Given the description of an element on the screen output the (x, y) to click on. 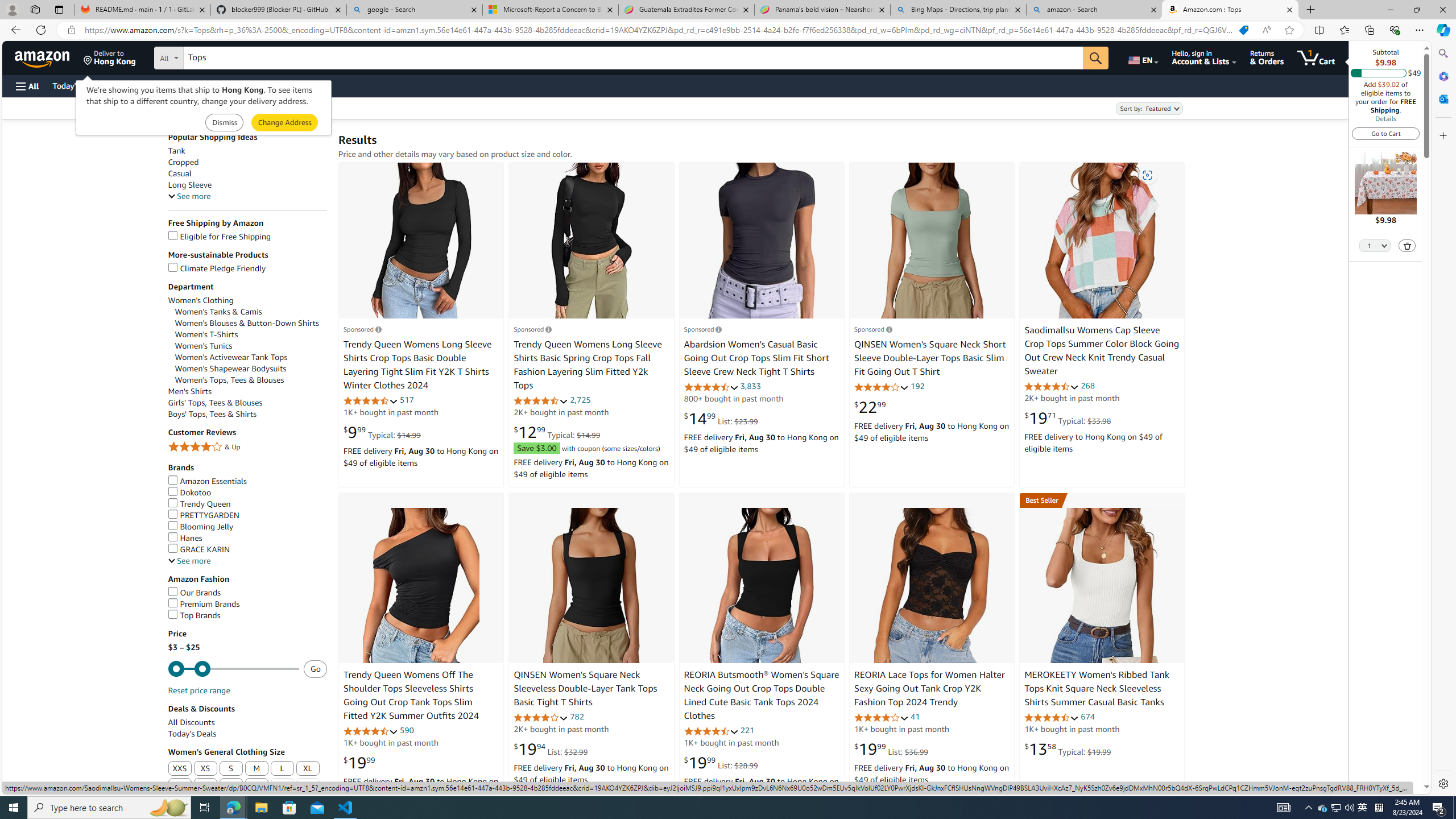
4 Stars & Up& Up (247, 447)
4.2 out of 5 stars (541, 717)
6XL (282, 786)
Cropped (247, 162)
M (255, 769)
Men's Shirts (189, 391)
Premium Brands (203, 603)
Women's Clothing (200, 300)
3XL (204, 785)
